Given the description of an element on the screen output the (x, y) to click on. 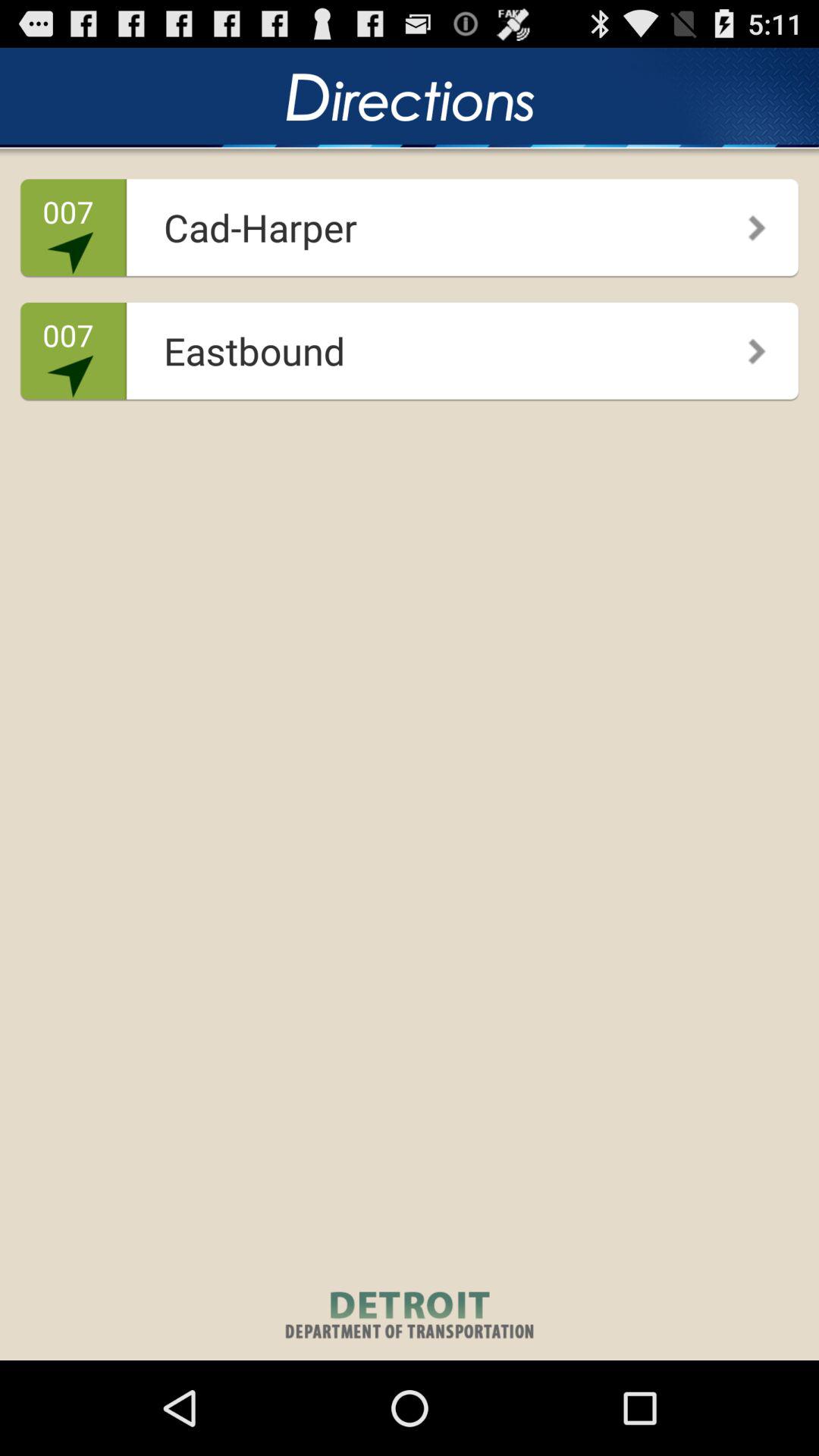
choose item below cad-harper app (746, 345)
